Given the description of an element on the screen output the (x, y) to click on. 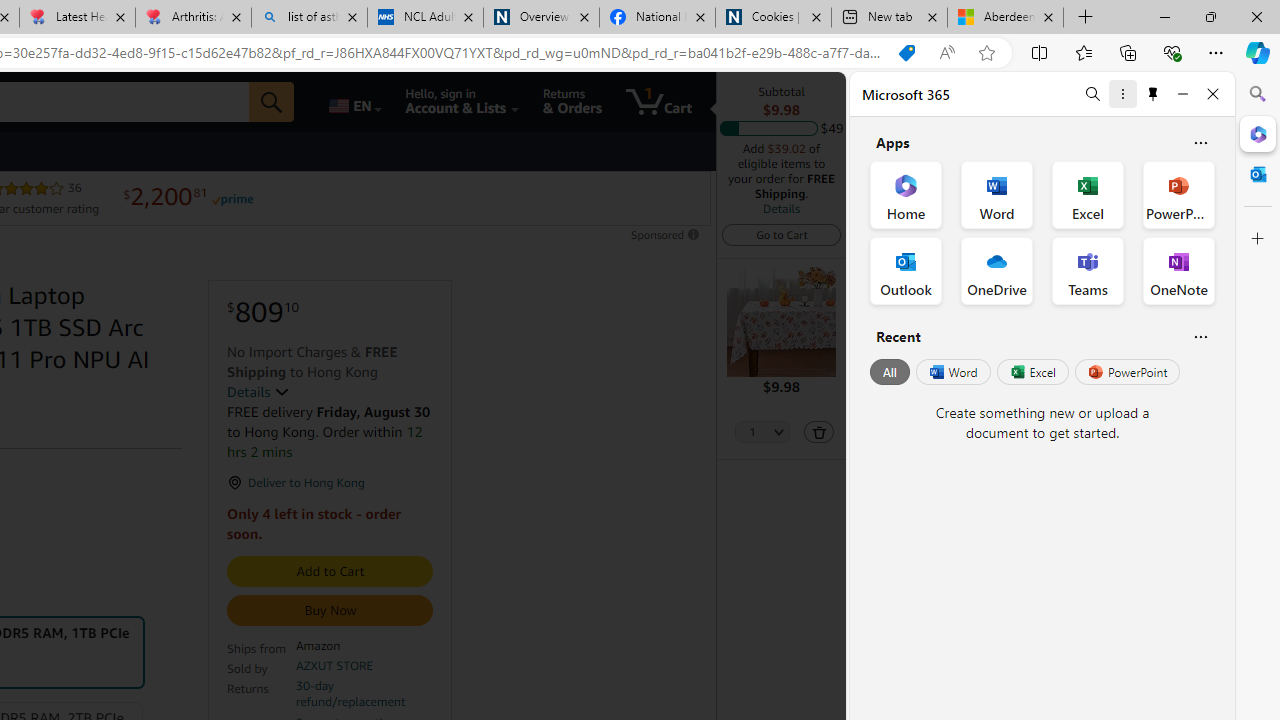
Teams Office App (1087, 270)
OneDrive Office App (996, 270)
Is this helpful? (1200, 336)
AZXUT STORE (333, 665)
Returns & Orders (571, 101)
Go (271, 101)
Home Office App (906, 194)
Delete (819, 431)
